Given the description of an element on the screen output the (x, y) to click on. 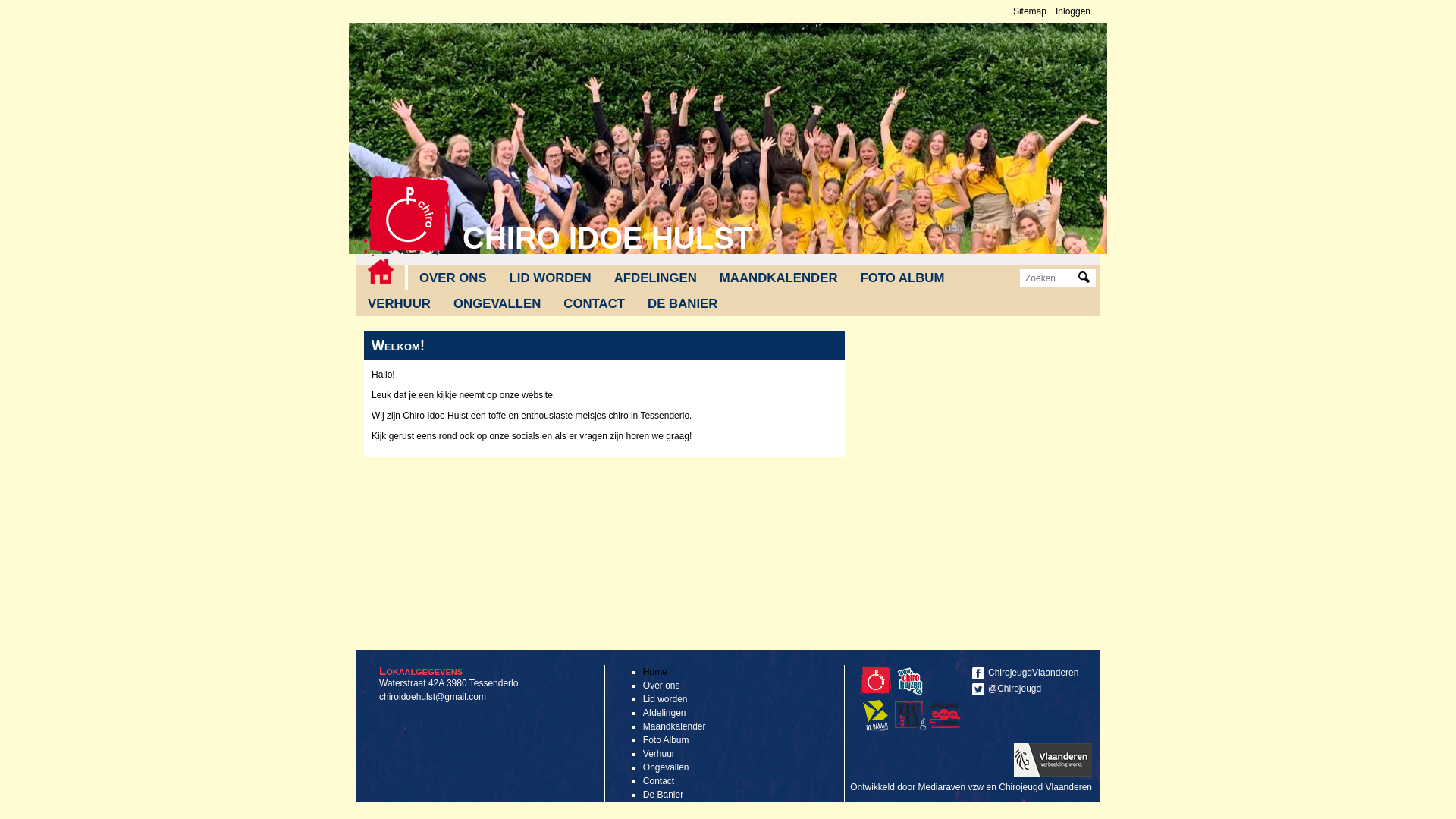
Twitter Element type: hover (978, 689)
CHIRO IDOE HULST Element type: text (607, 237)
Geef de woorden op waarnaar u wilt zoeken. Element type: hover (1049, 277)
Chirohuizen Element type: hover (909, 680)
ChirojeugdVlaanderen Element type: text (1028, 672)
DE BANIER Element type: text (682, 303)
Facebook Element type: hover (978, 673)
Mediaraven vzw Element type: text (951, 786)
De Banier Element type: hover (876, 727)
Lid worden Element type: text (665, 698)
OVER ONS Element type: text (452, 278)
Zindering Element type: hover (911, 727)
AFDELINGEN Element type: text (655, 278)
@Chirojeugd Element type: text (1028, 688)
ONGEVALLEN Element type: text (497, 303)
FOTO ALBUM Element type: text (902, 278)
Chirojeugd Vlaanderen Element type: hover (876, 692)
Over ons Element type: text (661, 685)
Inloggen Element type: text (1072, 11)
HOME Element type: text (380, 271)
MAANDKALENDER Element type: text (778, 278)
Sitemap Element type: text (1029, 11)
Chirohuizen Element type: hover (911, 692)
Verhuur Element type: text (658, 753)
Zindering Element type: hover (909, 715)
Contact Element type: text (658, 780)
Maandkalender Element type: text (674, 726)
Afdelingen Element type: text (664, 712)
De Banier Element type: hover (875, 715)
Zindering Element type: hover (946, 727)
CONTACT Element type: text (594, 303)
Home Element type: text (655, 671)
De Banier Element type: text (663, 794)
Chirojeugd Vlaanderen Element type: hover (875, 680)
Chirojeugd Vlaanderen Element type: text (1045, 786)
LID WORDEN Element type: text (550, 278)
Foto Album Element type: text (666, 739)
Ongevallen Element type: text (666, 767)
Verbond Limburg Element type: hover (944, 715)
Home Element type: hover (407, 215)
VERHUUR Element type: text (399, 303)
